Given the description of an element on the screen output the (x, y) to click on. 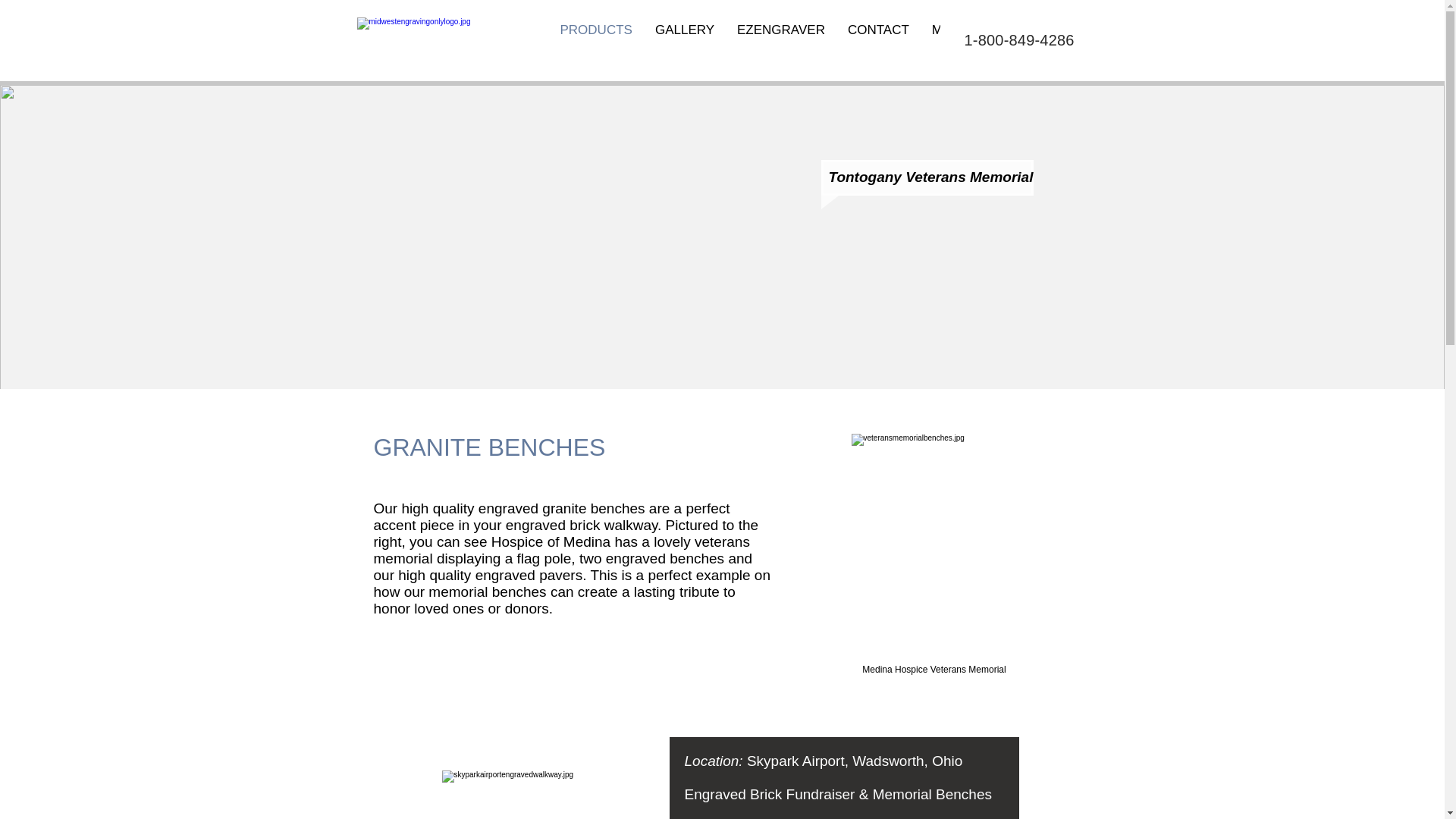
PRODUCTS (595, 39)
EZENGRAVER (780, 39)
GALLERY (684, 39)
1-800-849-4286 (1018, 39)
CONTACT (877, 39)
